Given the description of an element on the screen output the (x, y) to click on. 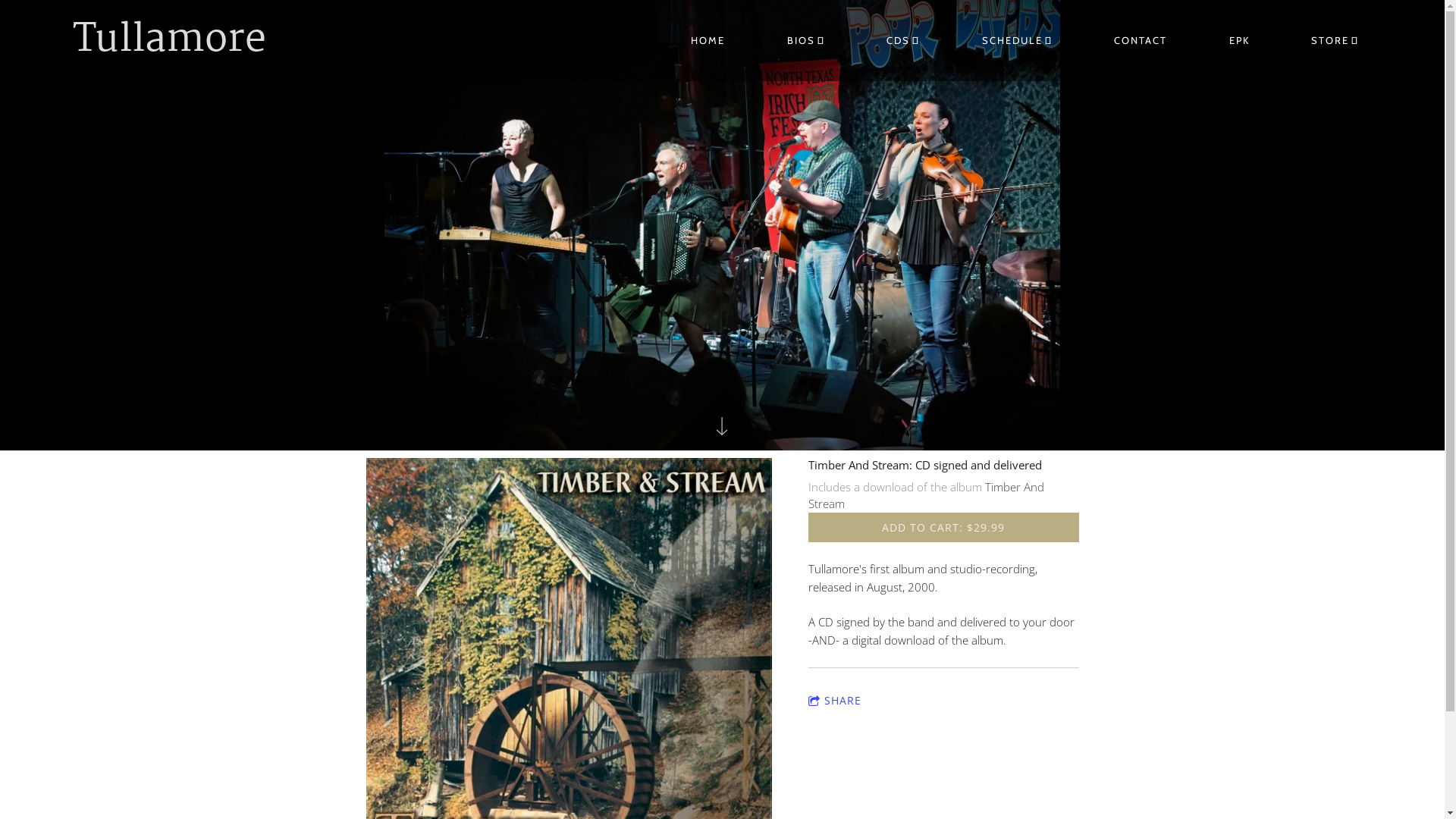
SHARE Element type: text (834, 700)
HOME Element type: text (707, 40)
Timber And Stream Element type: text (926, 495)
CDS Element type: text (903, 40)
Tullamore Element type: text (169, 40)
ADD TO CART: $29.99 Element type: text (943, 527)
STORE Element type: text (1335, 40)
BIOS Element type: text (805, 40)
EPK Element type: text (1238, 40)
SCHEDULE Element type: text (1016, 40)
CONTACT Element type: text (1140, 40)
